Given the description of an element on the screen output the (x, y) to click on. 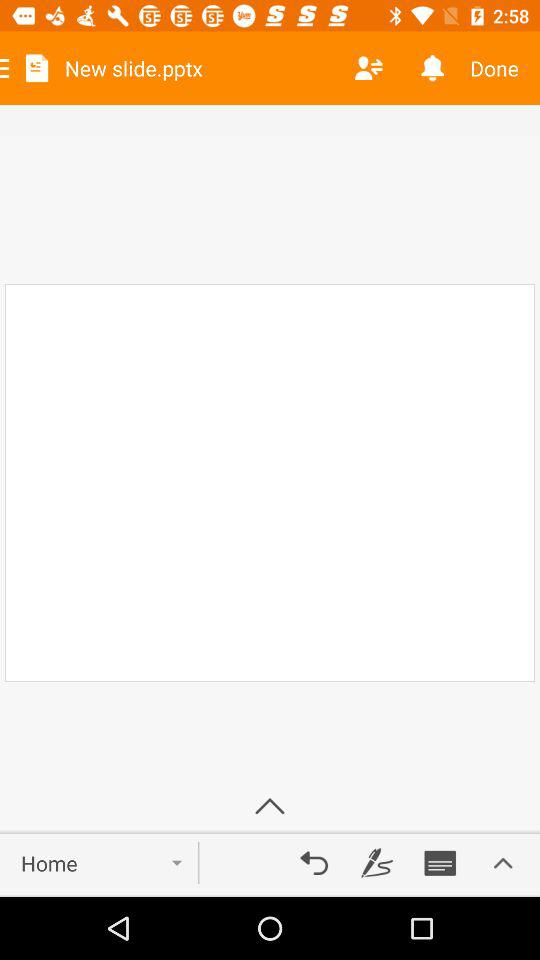
tap the done icon (501, 68)
